Given the description of an element on the screen output the (x, y) to click on. 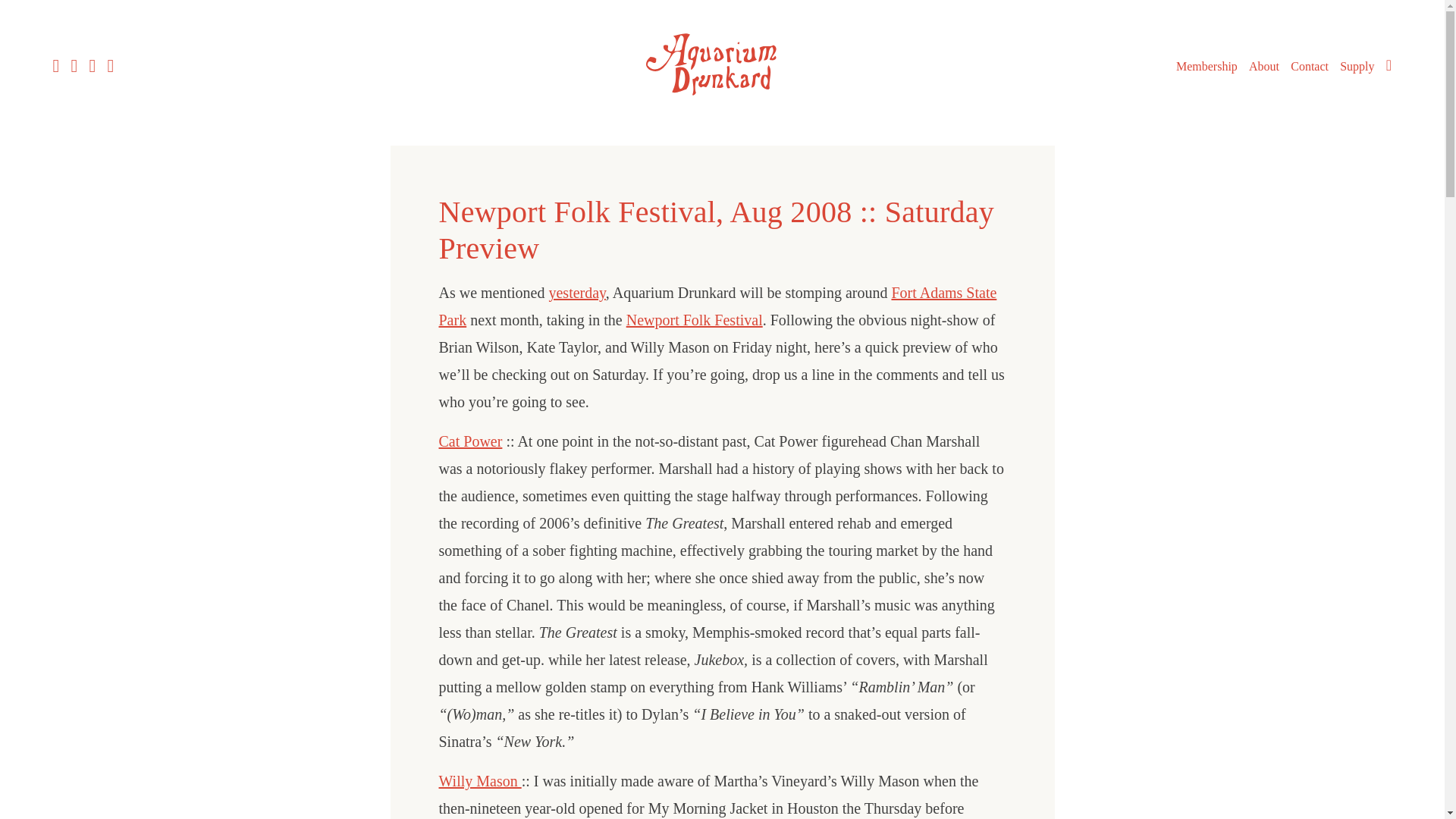
About (1264, 66)
Willy Mason (479, 781)
Newport Folk Festival (694, 320)
Aquarium Drunkard (721, 100)
Contact Aquarium Drunkard (1308, 66)
Supply (1356, 66)
Contact (1308, 66)
Fort Adams State Park (716, 306)
Aquarium Drunkard Merch Shop (1356, 66)
yesterday (576, 292)
About Aquarium Drunkard (1264, 66)
Search (1388, 64)
Cat Power (470, 441)
Aquarium Drunkard (721, 64)
Membership (1206, 66)
